Given the description of an element on the screen output the (x, y) to click on. 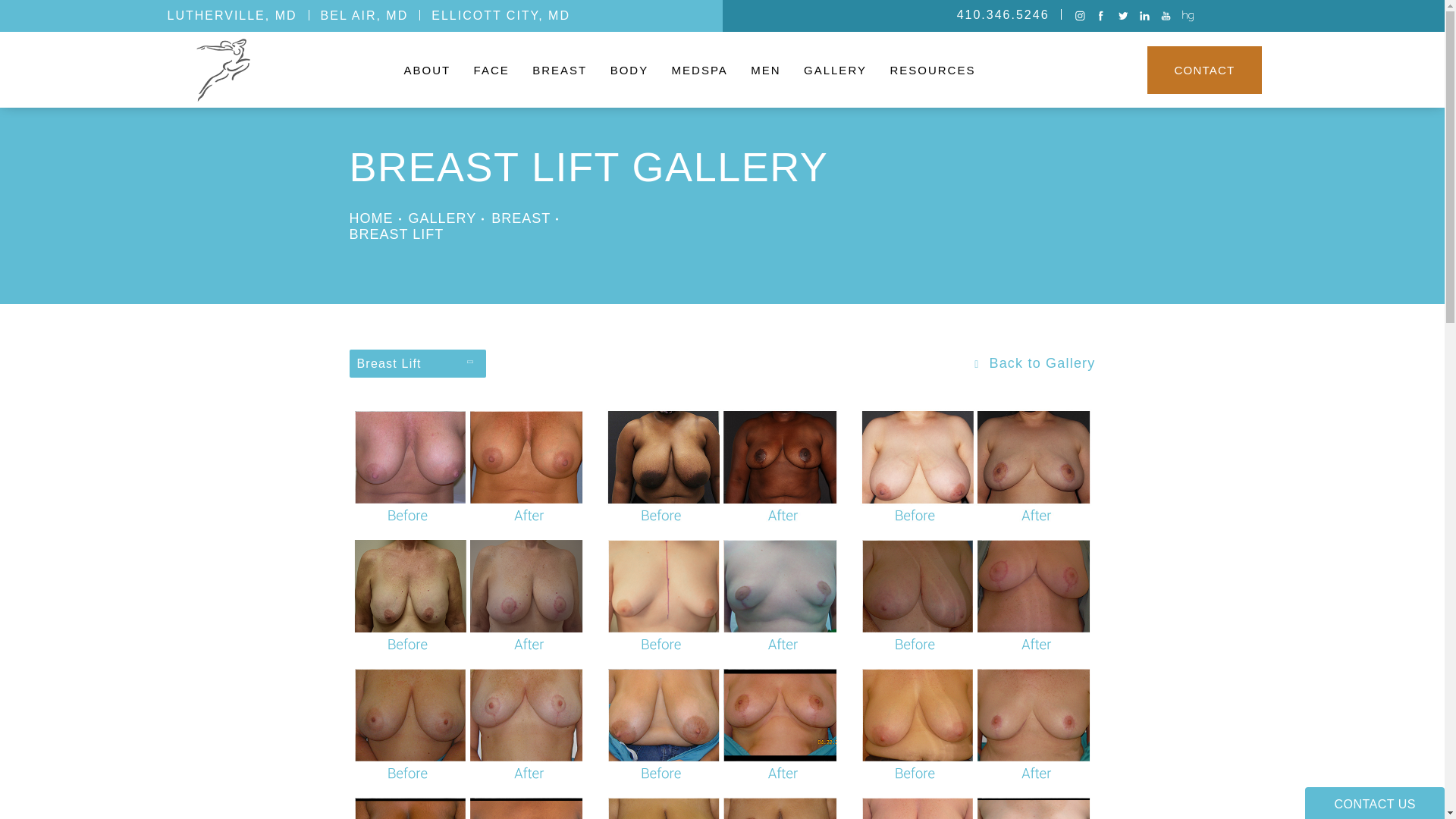
410.346.5246 (1002, 15)
LUTHERVILLE, MD (232, 15)
ABOUT (429, 68)
BEL AIR, MD (364, 15)
FACE (493, 68)
ELLICOTT CITY, MD (500, 15)
Artistry in Plastic Surgery on Youtube (1167, 16)
Artistry in Plastic Surgery on Instagram (1080, 16)
Artistry in Plastic Surgery on Healthgrades (1188, 16)
BREAST (561, 68)
Artistry in Plastic Surgery on Facebook (1102, 16)
Artistry in Plastic Surgery on Twitter (1123, 16)
Artistry in Plastic Surgery on Linkedin (1145, 16)
